Given the description of an element on the screen output the (x, y) to click on. 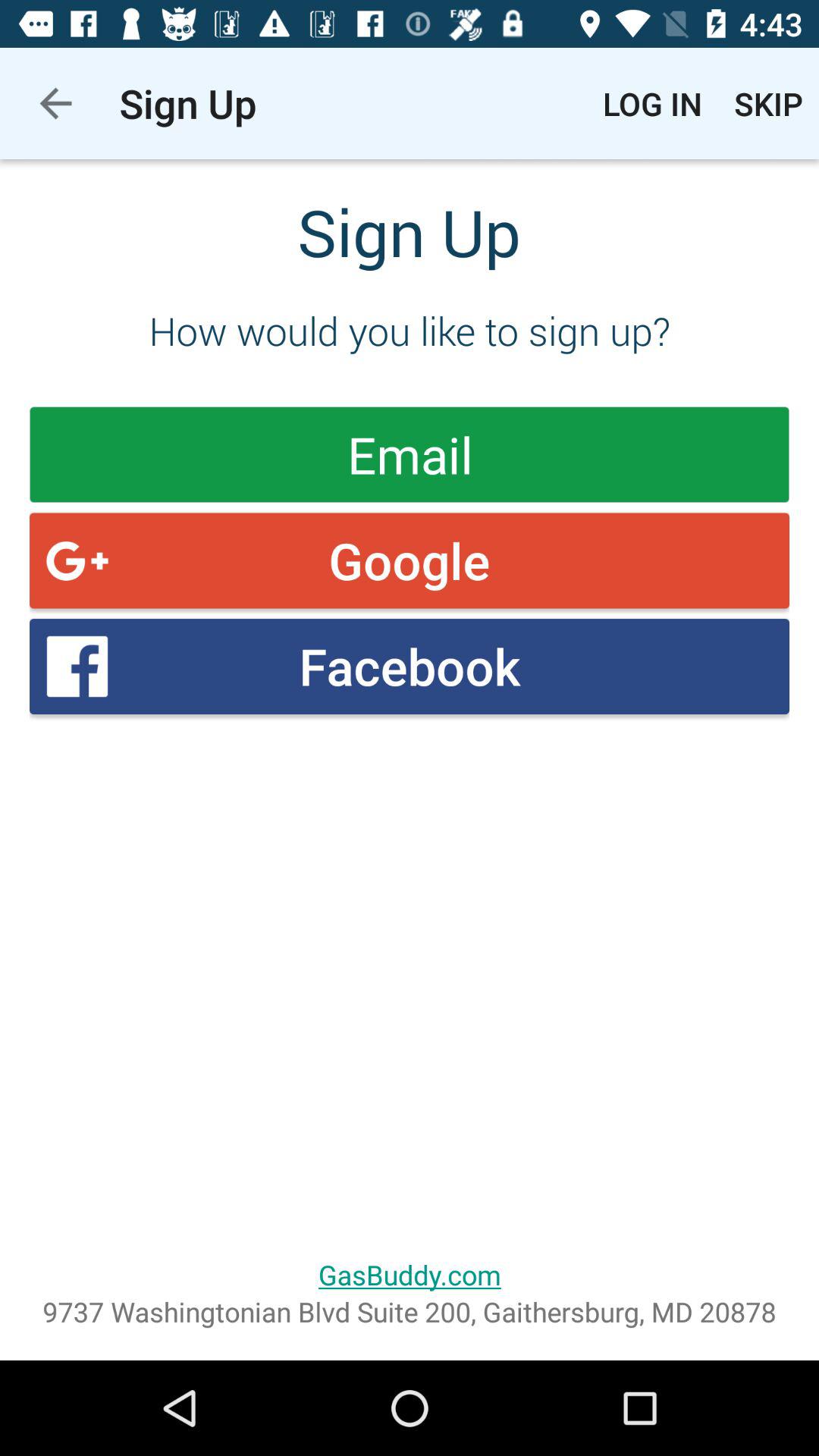
jump until the gasbuddy.com icon (409, 1274)
